Given the description of an element on the screen output the (x, y) to click on. 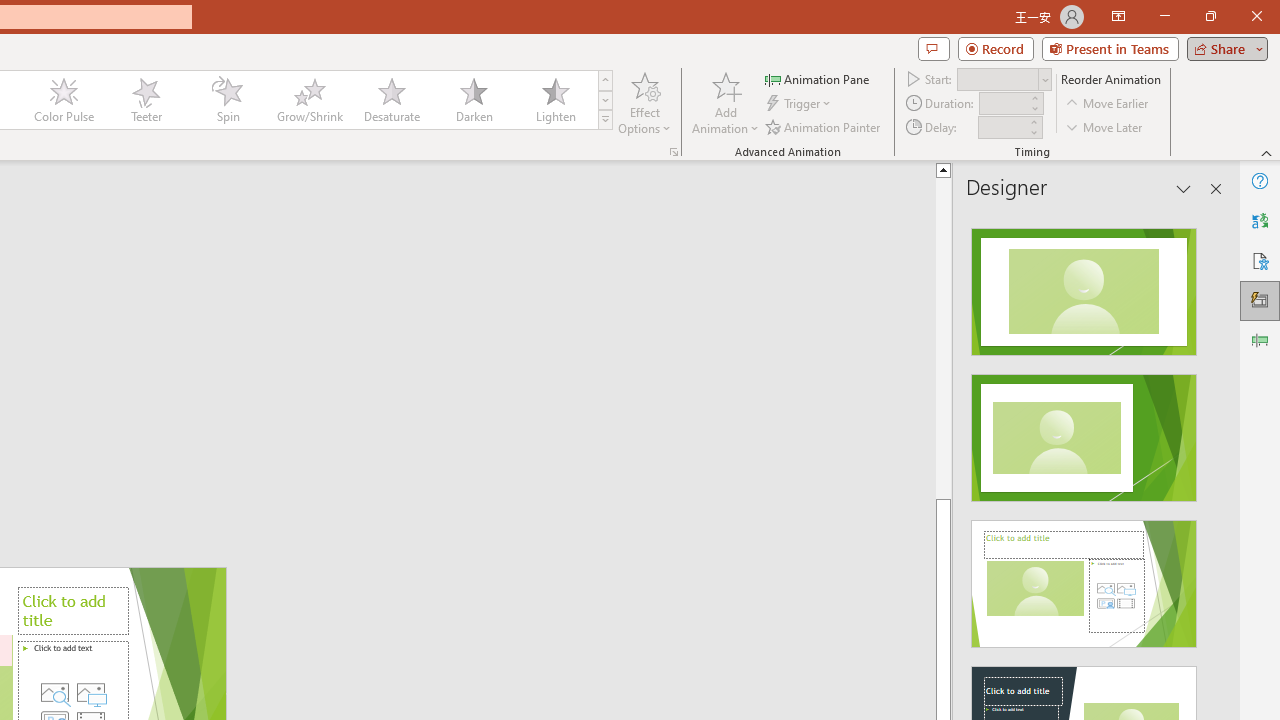
Grow/Shrink (309, 100)
More Options... (673, 151)
Collapse the Ribbon (1267, 152)
Less (1033, 132)
Animation Styles (605, 120)
Spin (227, 100)
Animation Painter (824, 126)
Move Earlier (1107, 103)
Share (1223, 48)
Translator (1260, 220)
Teeter (145, 100)
Start (1004, 78)
Animation Delay (1002, 127)
Record (995, 48)
More (1033, 121)
